Given the description of an element on the screen output the (x, y) to click on. 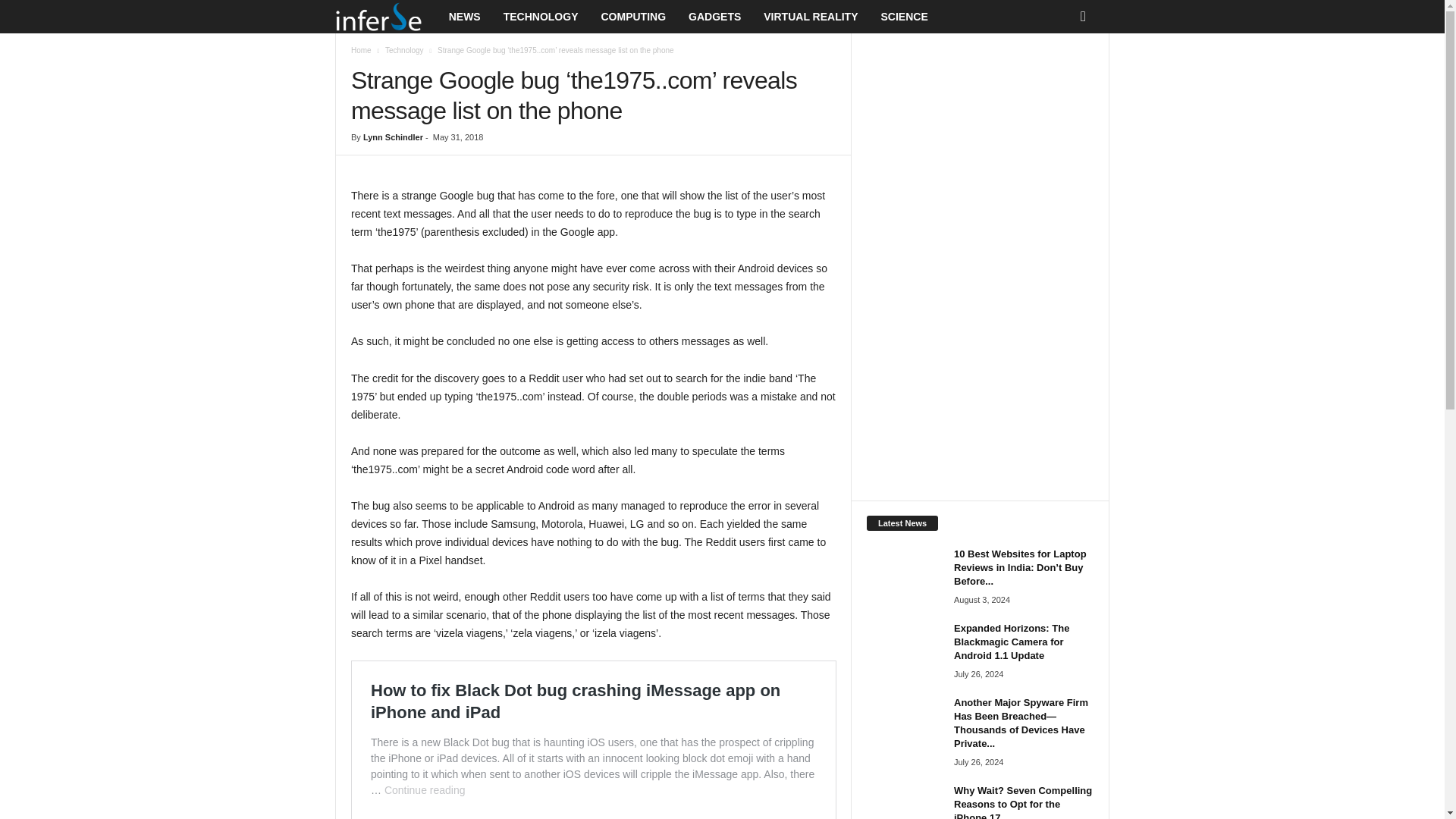
Lynn Schindler (392, 136)
SCIENCE (904, 16)
TECHNOLOGY (540, 16)
Technology (404, 49)
Inferse.com (386, 17)
GADGETS (714, 16)
COMPUTING (633, 16)
Home (360, 49)
NEWS (465, 16)
Inferse (378, 16)
VIRTUAL REALITY (810, 16)
View all posts in Technology (404, 49)
